Given the description of an element on the screen output the (x, y) to click on. 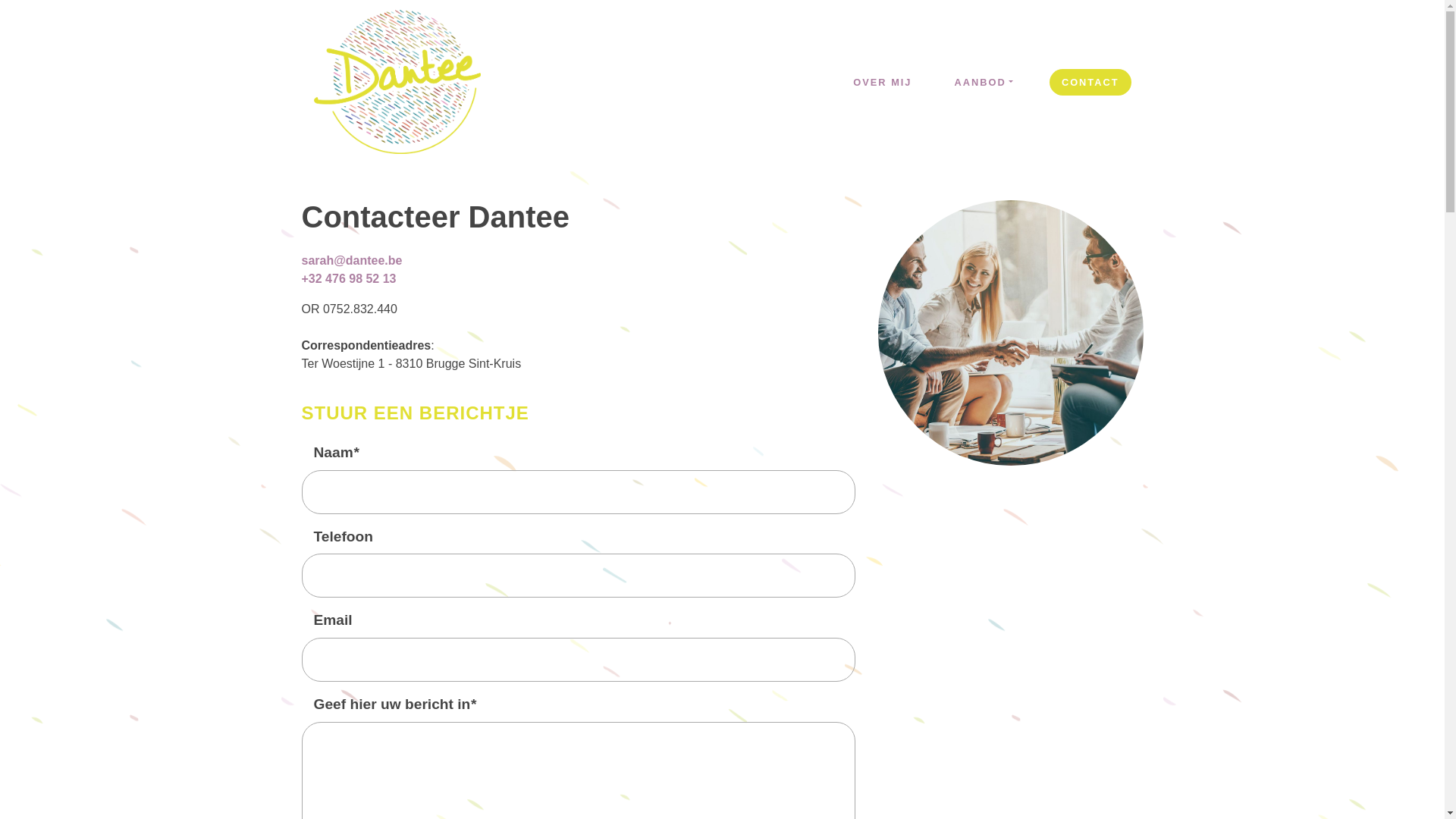
CONTACT Element type: text (1090, 82)
+32 476 98 52 13 Element type: text (348, 278)
sarah@dantee.be Element type: text (351, 260)
AANBOD Element type: text (982, 82)
OVER MIJ Element type: text (882, 82)
